Given the description of an element on the screen output the (x, y) to click on. 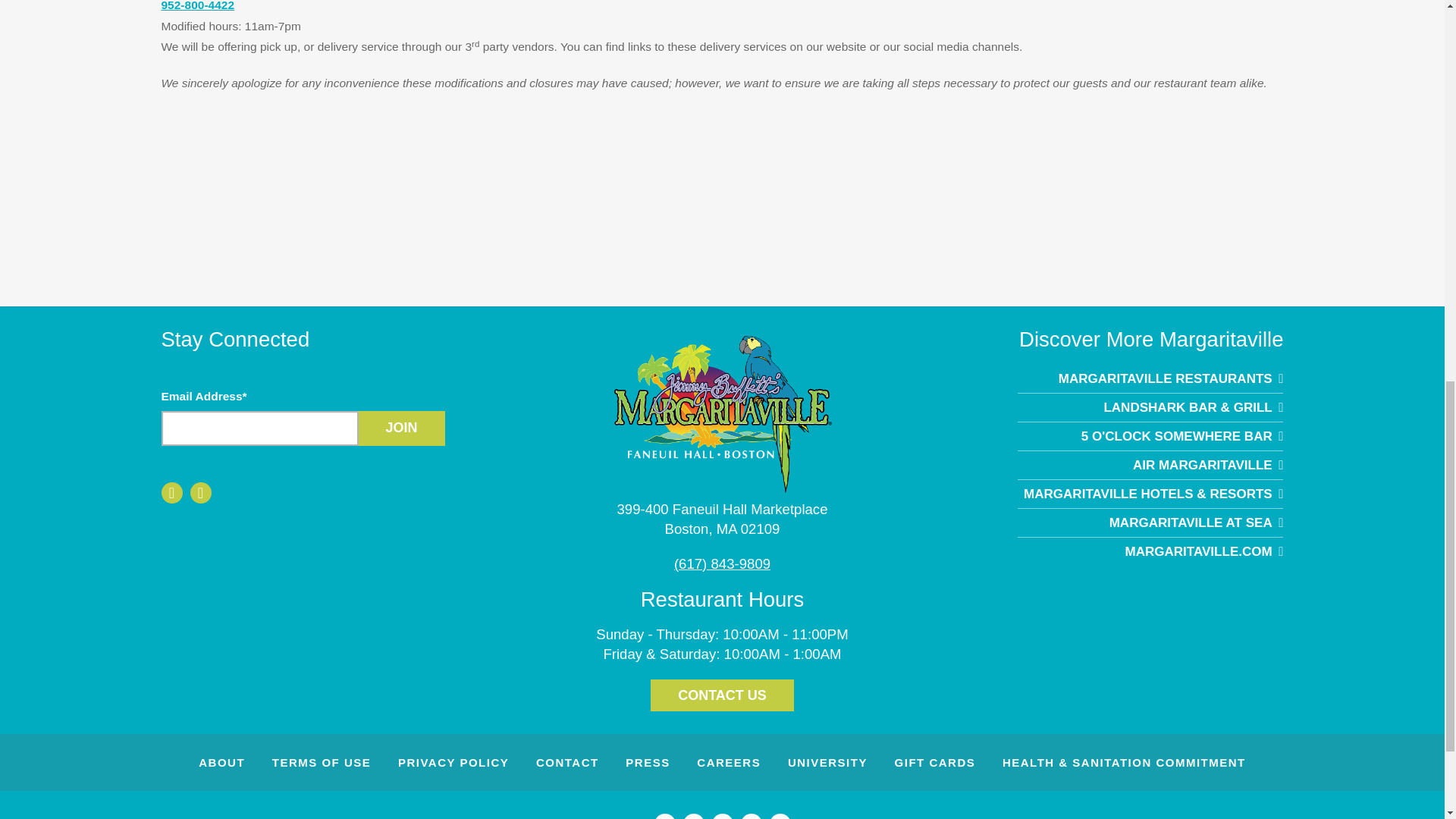
MARGARITAVILLE.COM (1149, 551)
AIR MARGARITAVILLE (1149, 465)
JOIN (721, 519)
MARGARITAVILLE RESTAURANTS (401, 428)
952-800-4422 (1149, 378)
CONTACT US (197, 5)
MARGARITAVILLE AT SEA (721, 695)
ABOUT (1149, 522)
5 O'CLOCK SOMEWHERE BAR (221, 762)
